Given the description of an element on the screen output the (x, y) to click on. 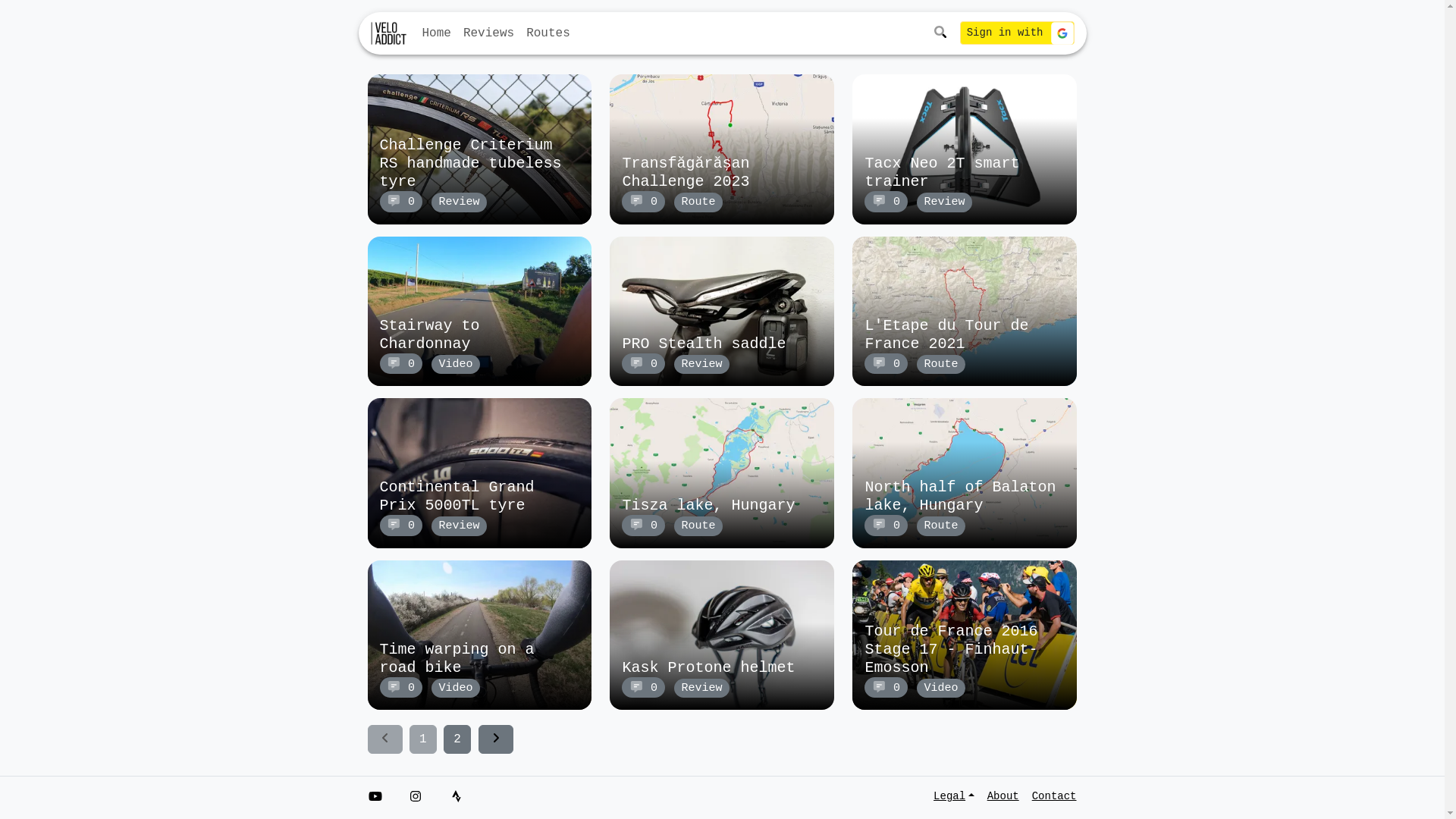
Home Element type: text (435, 33)
1 Element type: text (422, 738)
Reviews Element type: text (488, 33)
About Element type: text (1003, 796)
Legal Element type: text (956, 796)
2 Element type: text (456, 738)
Routes Element type: text (548, 33)
Sign in with Element type: text (1017, 32)
Contact Element type: text (1051, 796)
